Given the description of an element on the screen output the (x, y) to click on. 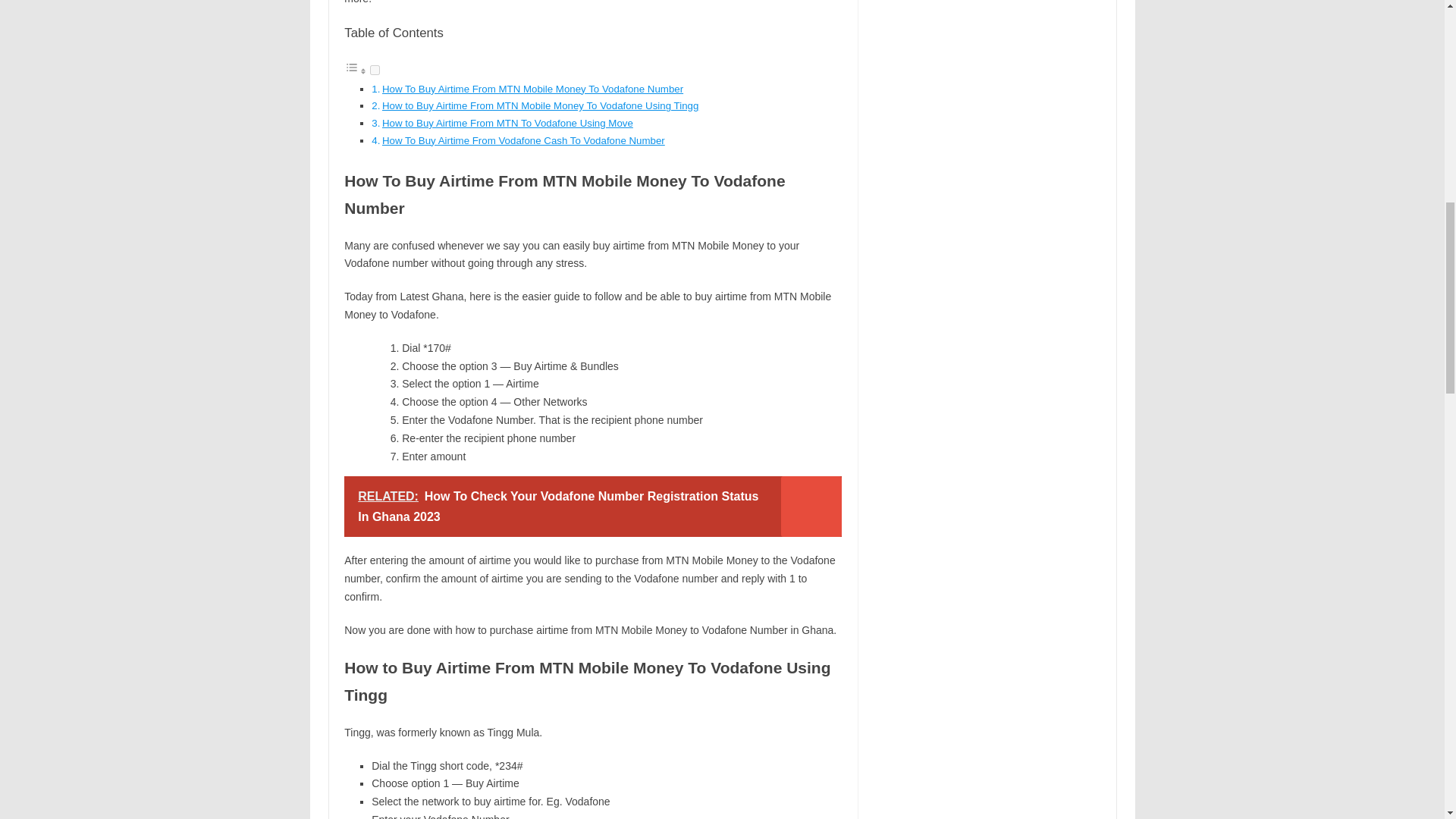
How To Buy Airtime From MTN Mobile Money To Vodafone Number (531, 89)
How To Buy Airtime From Vodafone Cash To Vodafone Number (523, 140)
How To Buy Airtime From Vodafone Cash To Vodafone Number (523, 140)
on (374, 70)
How To Buy Airtime From MTN Mobile Money To Vodafone Number (531, 89)
How to Buy Airtime From MTN To Vodafone Using Move (507, 122)
How to Buy Airtime From MTN To Vodafone Using Move (507, 122)
